Given the description of an element on the screen output the (x, y) to click on. 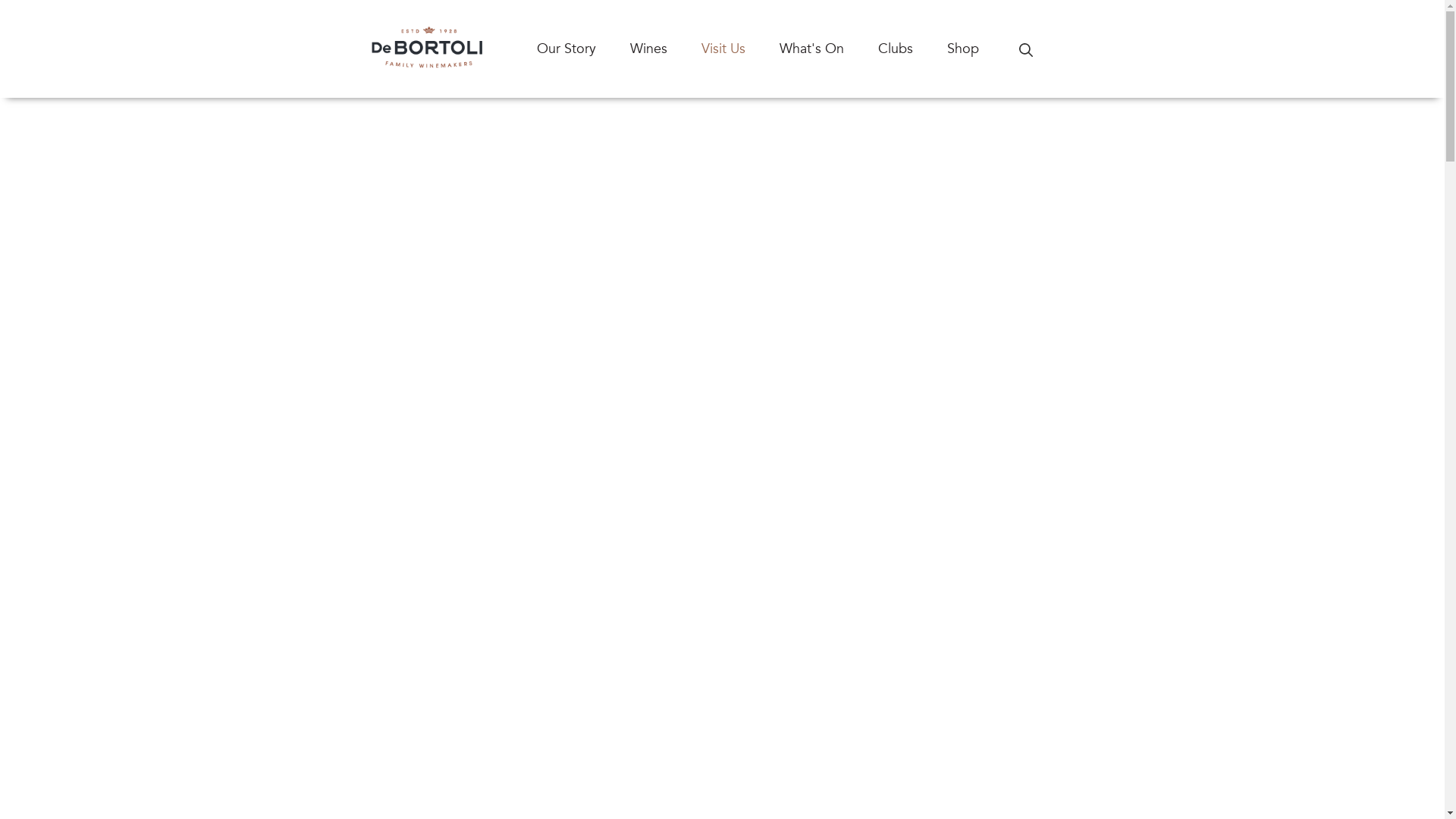
Wines Element type: text (664, 48)
Visit Us Element type: text (739, 48)
Shop Element type: text (979, 48)
Home Element type: text (426, 48)
Clubs Element type: text (912, 48)
What's On Element type: text (828, 48)
Our Story Element type: text (583, 48)
